Given the description of an element on the screen output the (x, y) to click on. 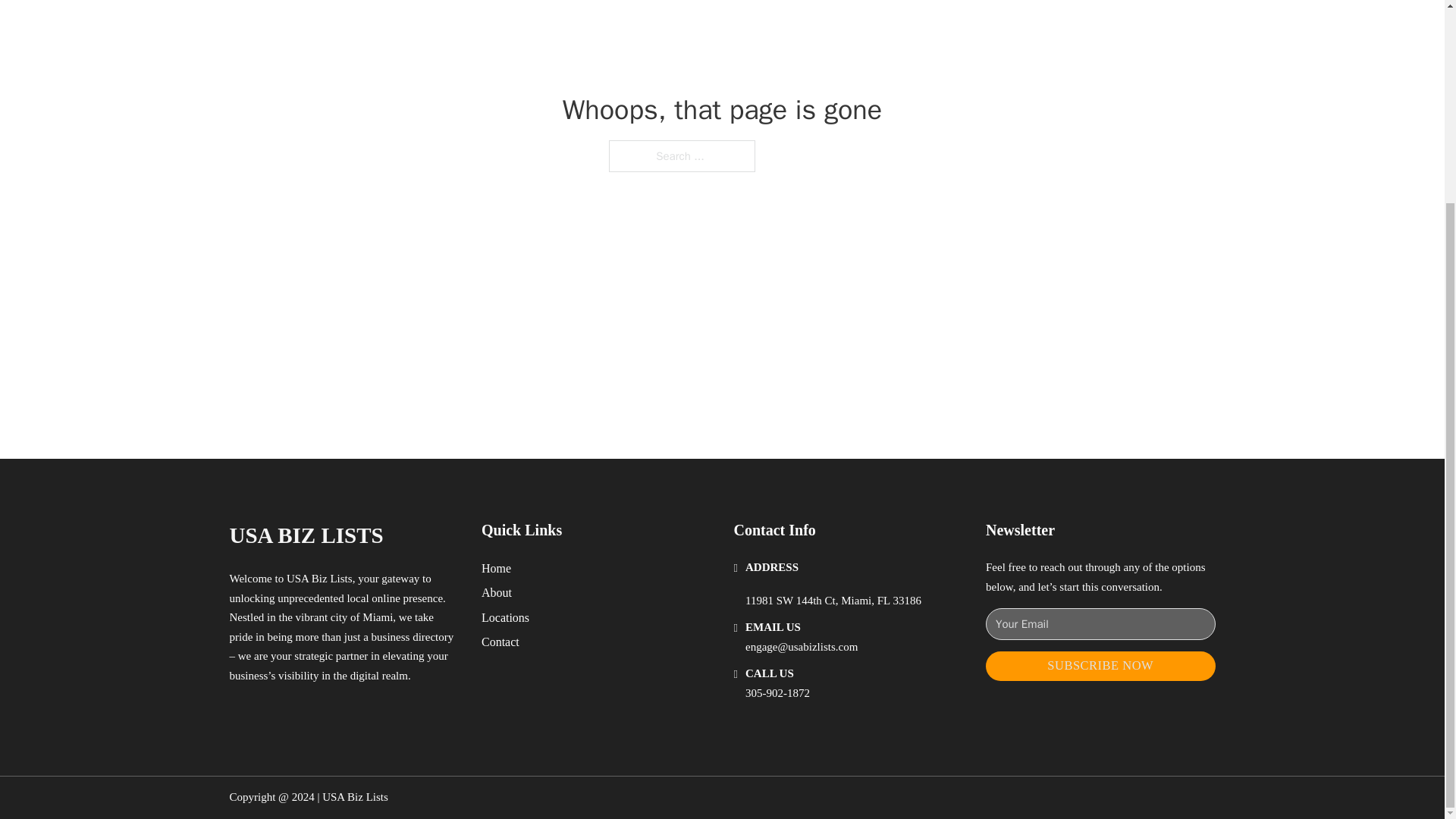
305-902-1872 (777, 693)
Contact (500, 641)
SUBSCRIBE NOW (1100, 665)
Locations (505, 617)
Home (496, 567)
USA BIZ LISTS (305, 535)
About (496, 592)
